Given the description of an element on the screen output the (x, y) to click on. 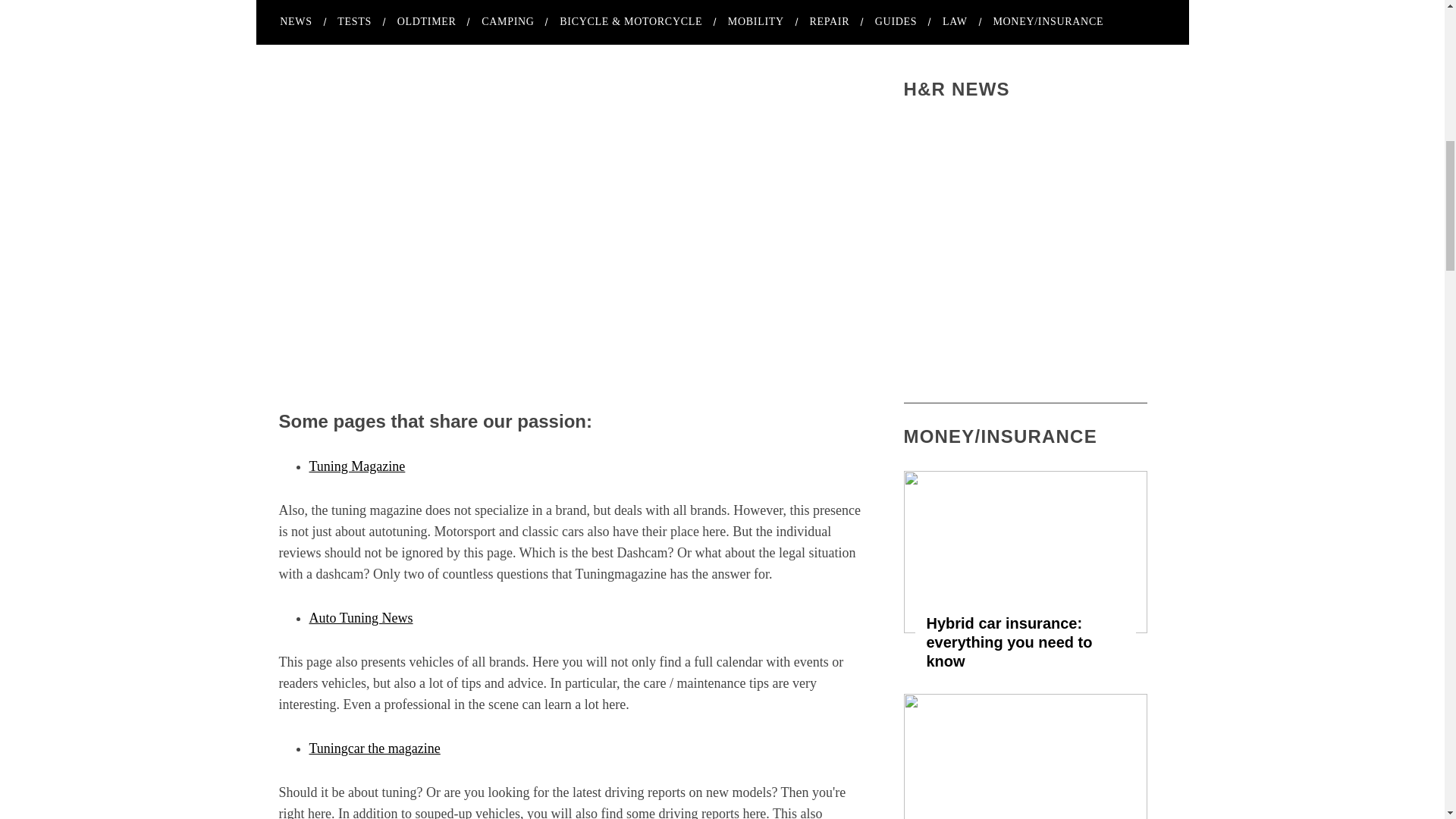
Tuning Magazine (357, 466)
Tuningcar the magazine (374, 748)
Auto Tuning News (360, 617)
